Given the description of an element on the screen output the (x, y) to click on. 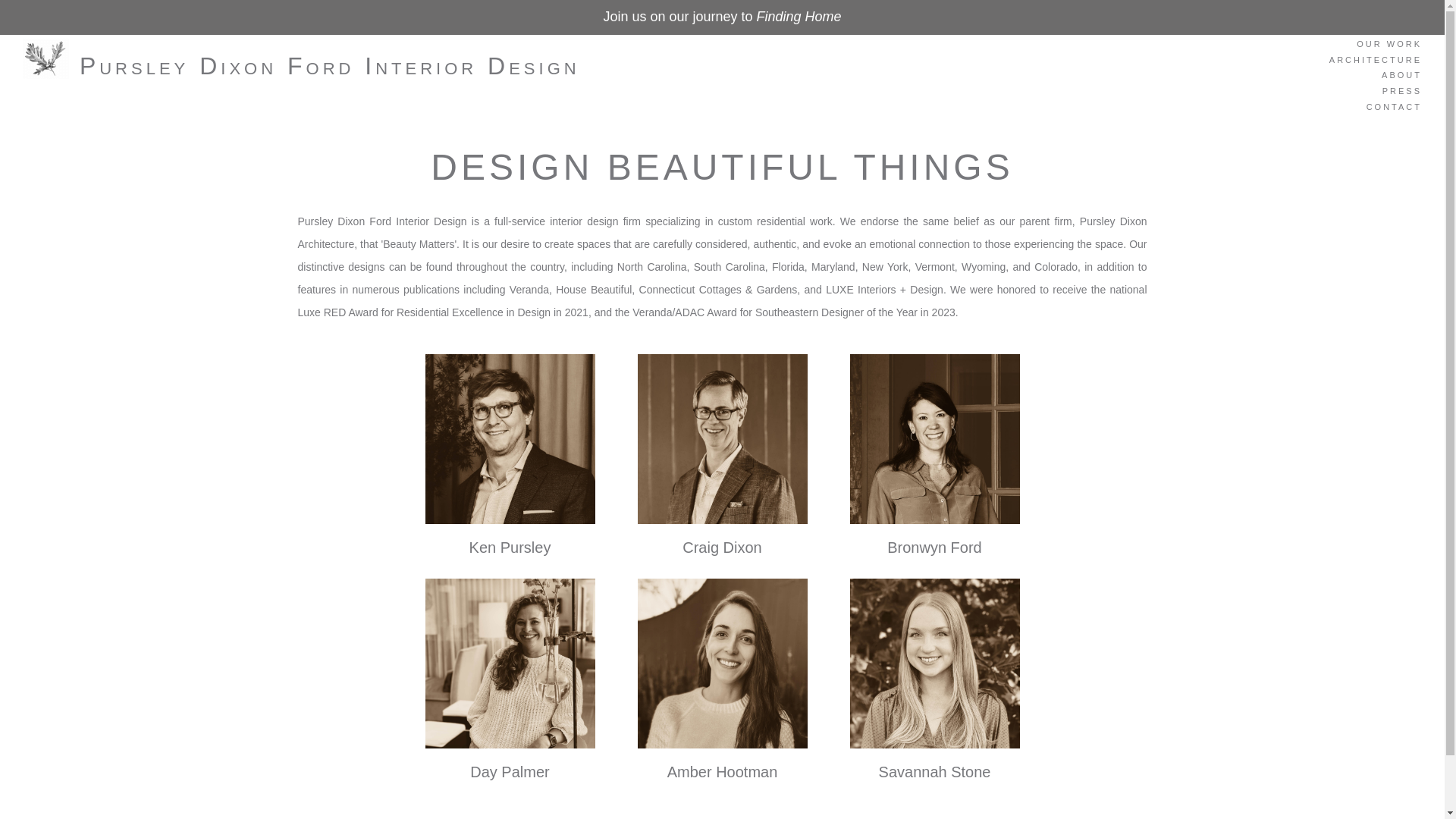
ABOUT (1375, 77)
Finding Home (799, 16)
ARCHITECTURE (1375, 62)
OUR WORK (1375, 46)
PRESS (1375, 93)
CONTACT (1375, 109)
PURSLEY DIXON FORD INTERIOR DESIGN (301, 70)
